Given the description of an element on the screen output the (x, y) to click on. 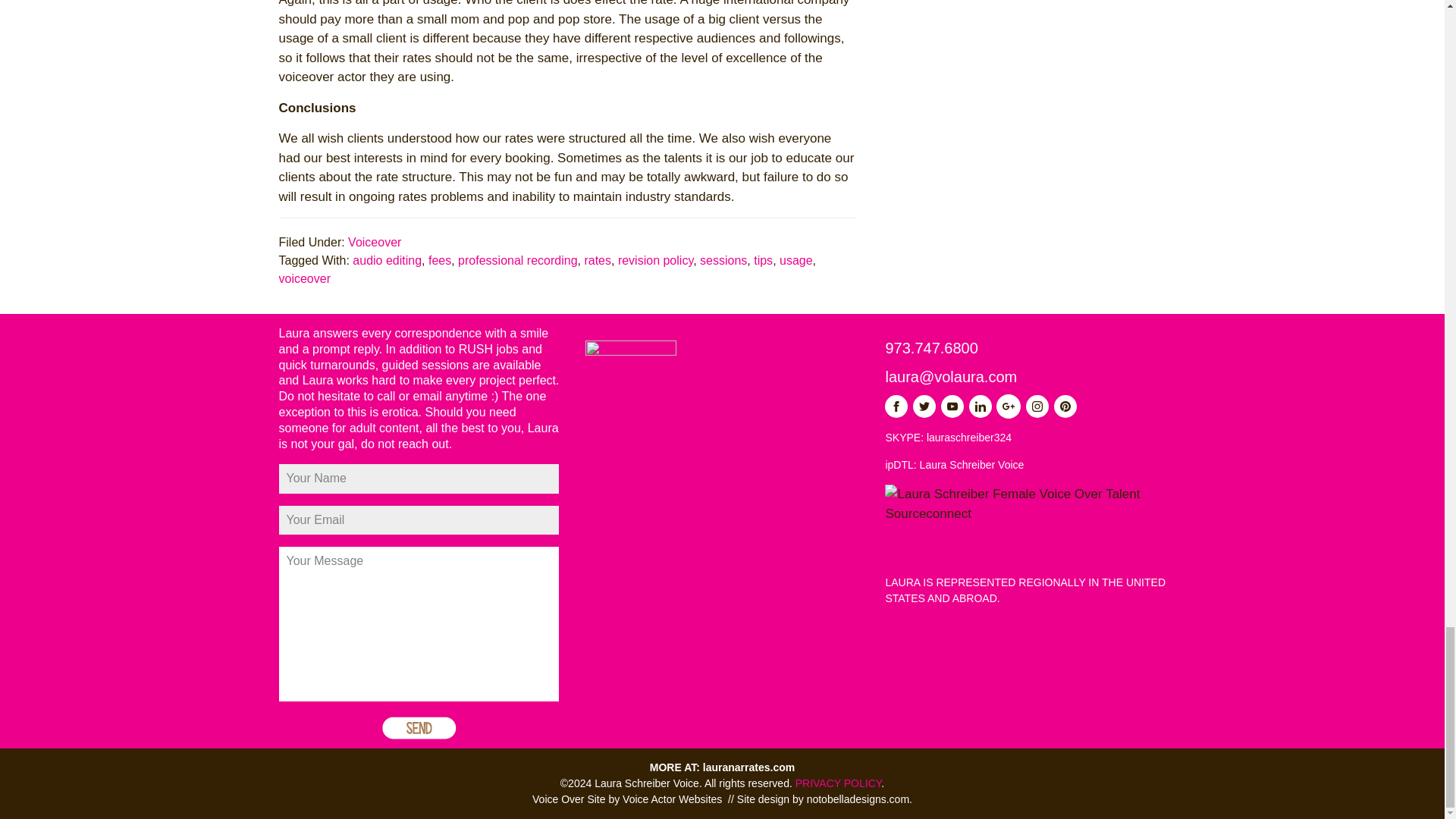
Youtube (951, 405)
Linkedin (980, 405)
facebook (896, 405)
twitter (924, 405)
